Given the description of an element on the screen output the (x, y) to click on. 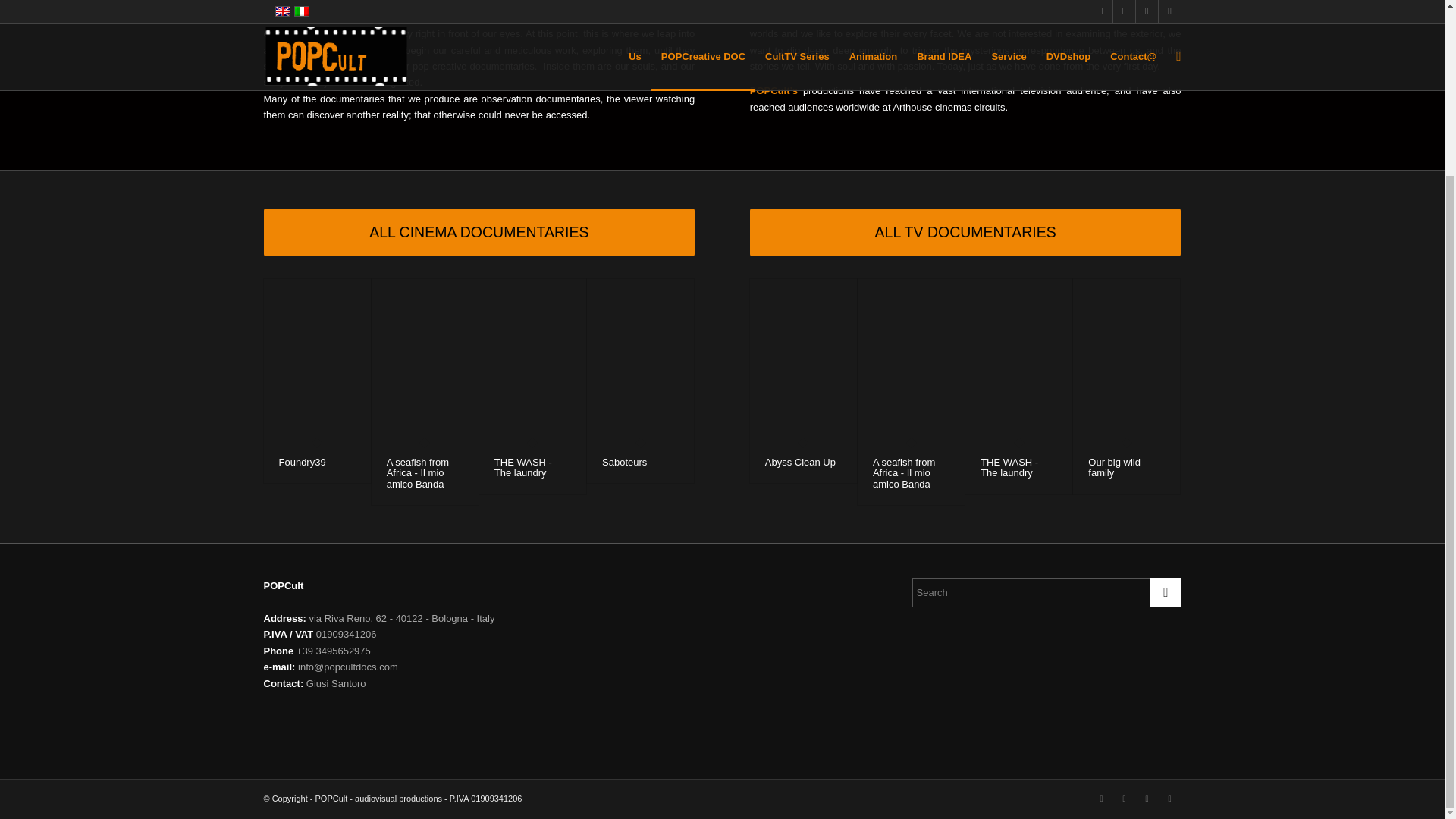
A seafish from Africa - Il mio amico Banda (417, 472)
ALL TV DOCUMENTARIES (964, 232)
ALL CINEMA DOCUMENTARIES (479, 232)
Foundry39 (302, 461)
A seafish from Africa - Il mio amico Banda (417, 472)
Foundry39 (302, 461)
THE WASH - The laundry (523, 467)
